Given the description of an element on the screen output the (x, y) to click on. 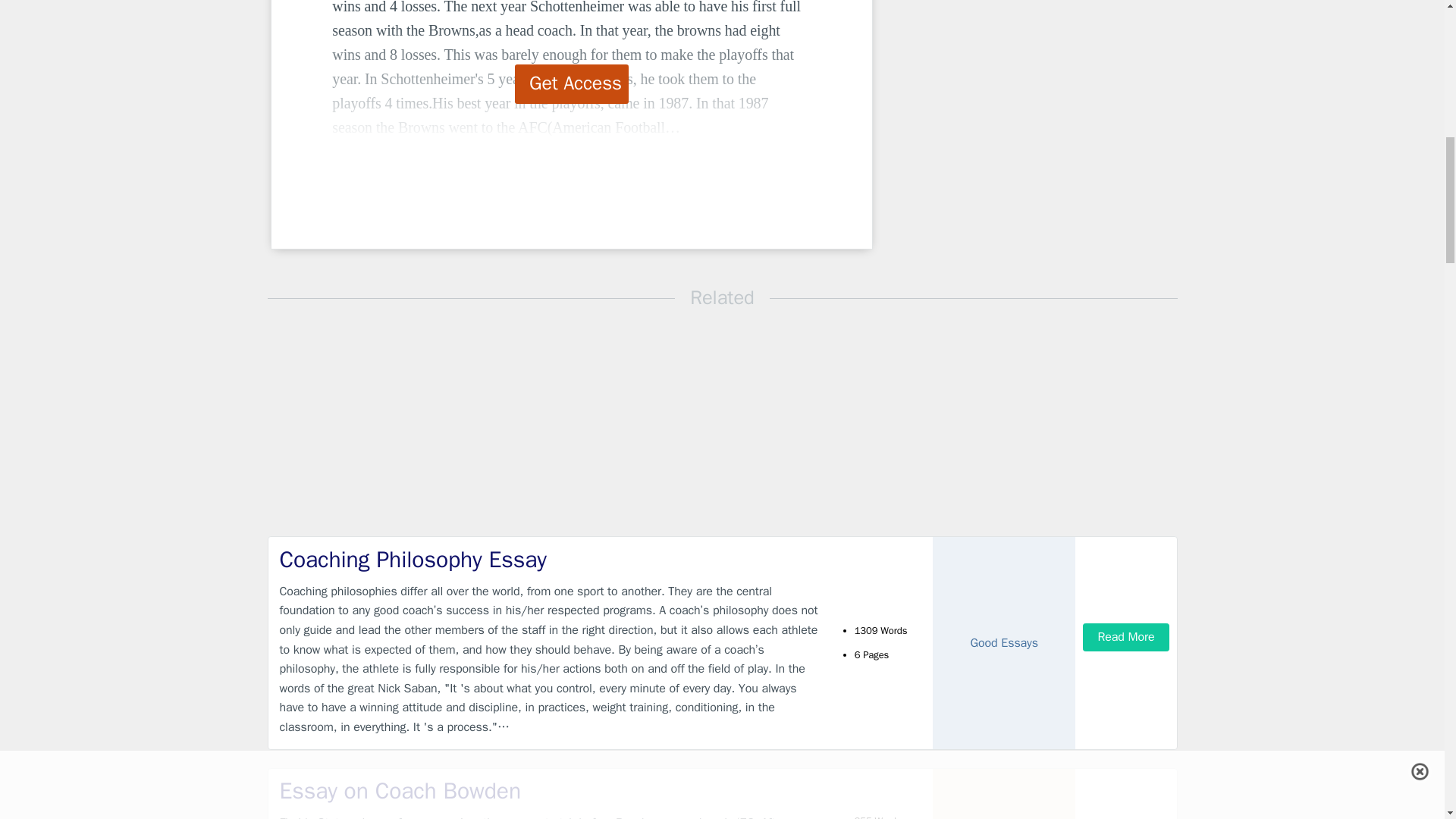
Read More (1126, 637)
Get Access (571, 84)
Coaching Philosophy Essay (548, 559)
Essay on Coach Bowden (548, 790)
3rd party ad content (997, 106)
